Given the description of an element on the screen output the (x, y) to click on. 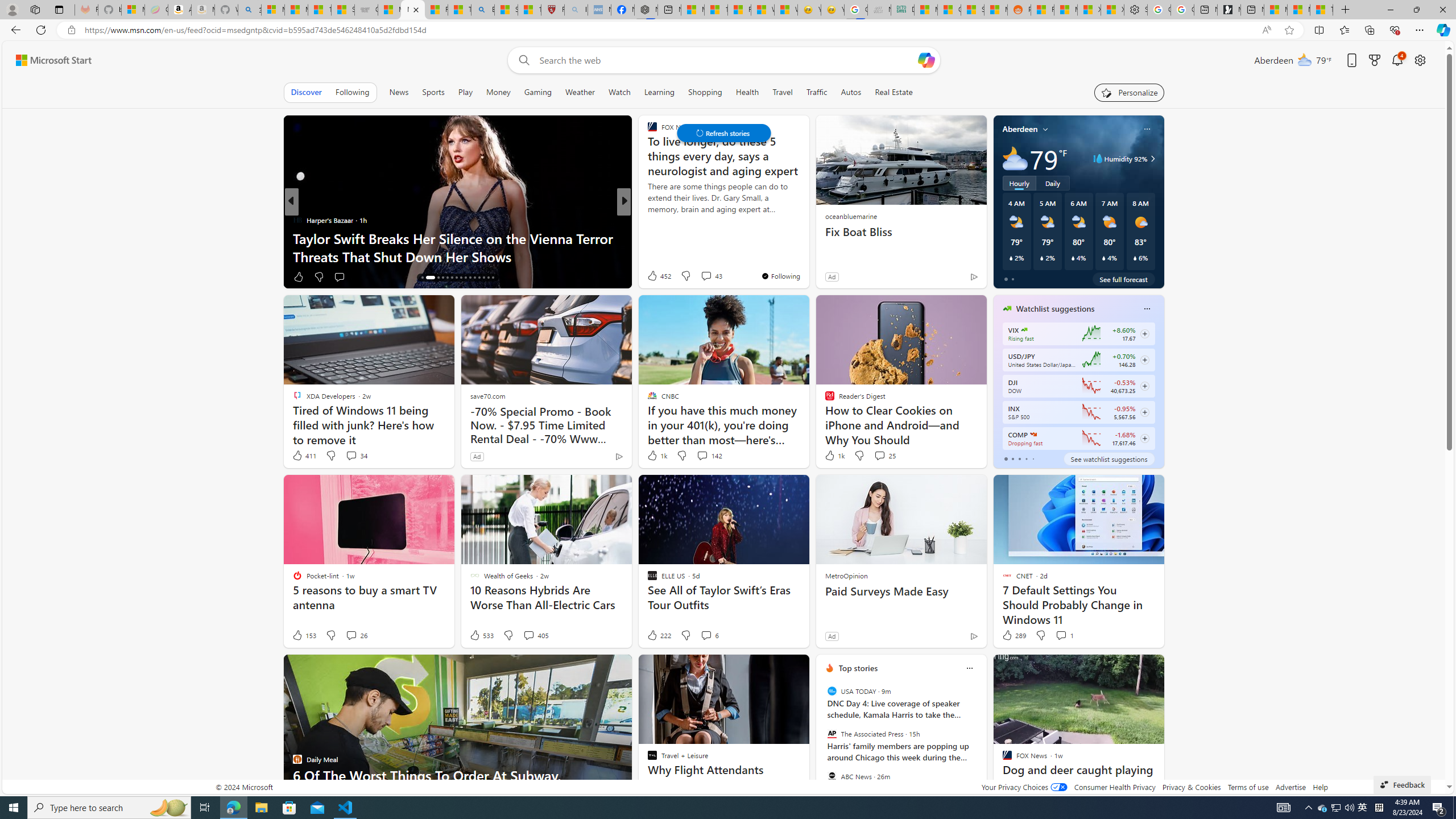
Class: weather-current-precipitation-glyph (1134, 257)
Traffic (816, 92)
Real Estate (893, 92)
289 Like (1012, 634)
View comments 405 Comment (528, 635)
Class: follow-button  m (1144, 438)
20 Like (652, 276)
View comments 25 Comment (879, 455)
285 Like (654, 276)
Aberdeen (1019, 128)
View comments 67 Comment (703, 276)
